Given the description of an element on the screen output the (x, y) to click on. 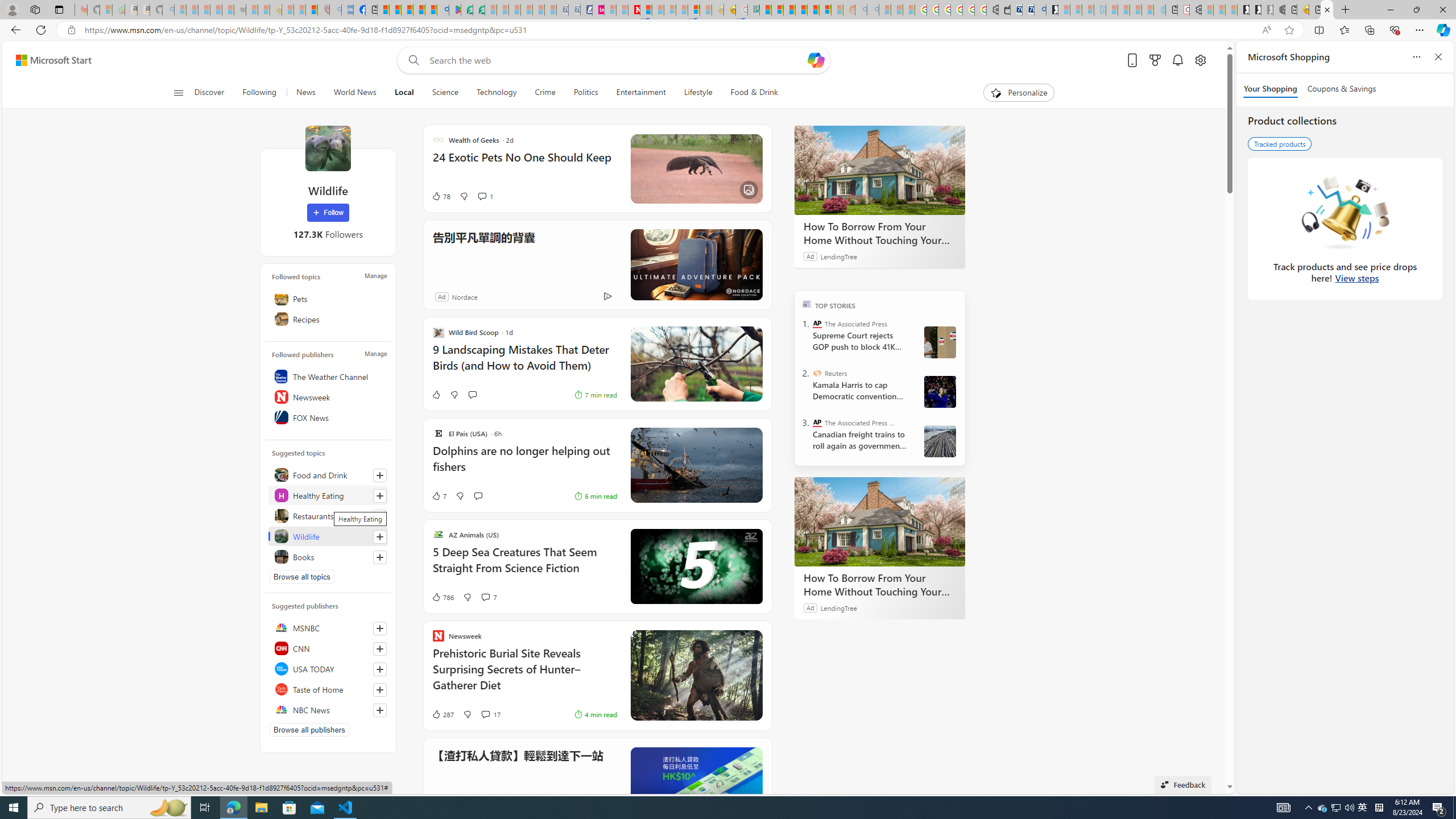
Wildlife - MSN (1327, 9)
Newsweek (327, 397)
View comments 1 Comment (485, 196)
TOP (806, 302)
5 Deep Sea Creatures That Seem Straight From Science Fiction (524, 565)
